Given the description of an element on the screen output the (x, y) to click on. 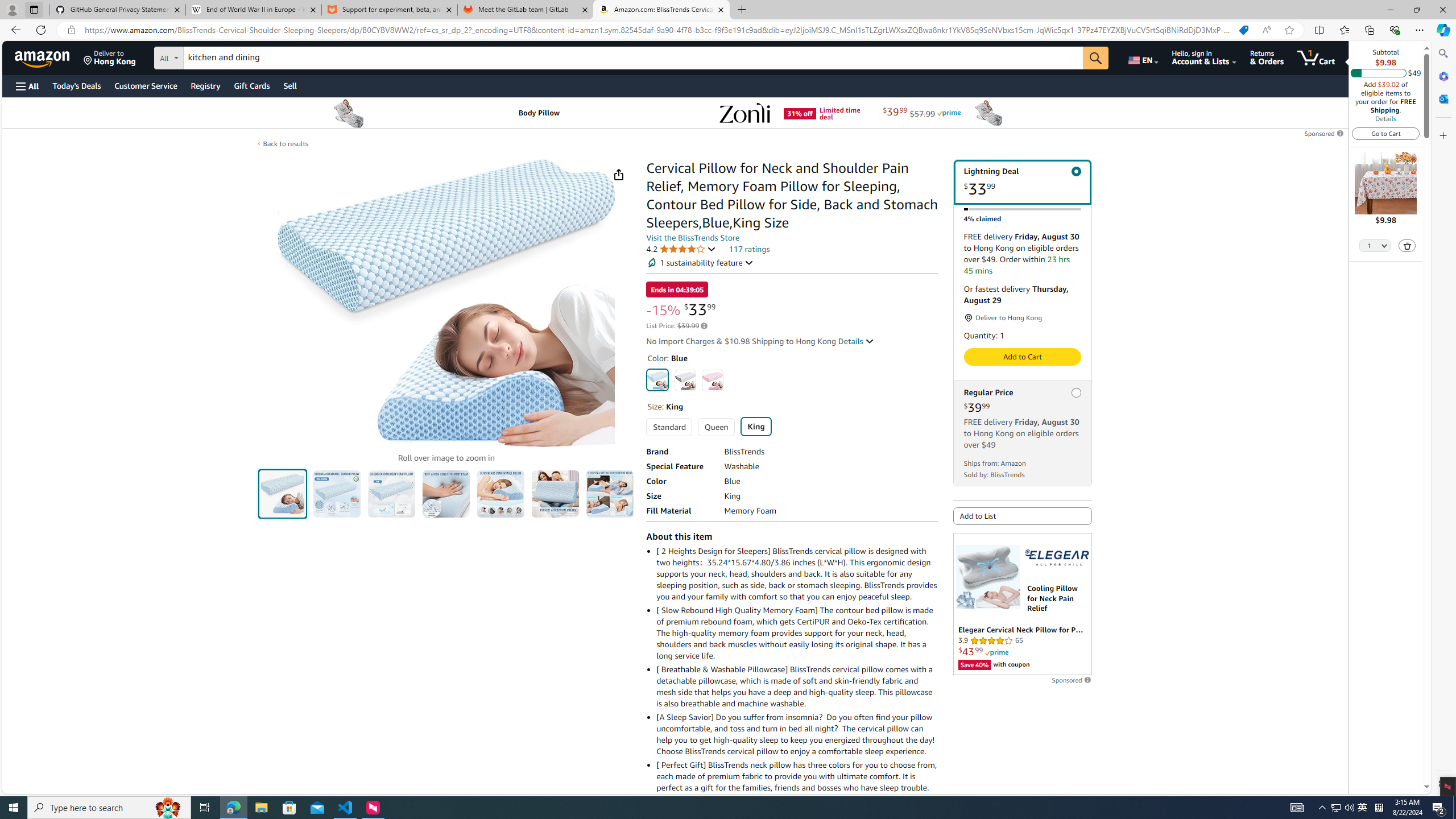
Search Amazon (633, 57)
Amazon (43, 57)
Sustainability features 1 sustainability feature  (700, 262)
Go to Cart (1385, 133)
4.2 4.2 out of 5 stars (681, 248)
Logo (1057, 557)
Sponsored ad (1022, 603)
1 item in cart (1315, 57)
GitHub General Privacy Statement - GitHub Docs (117, 9)
Add to Cart (1021, 356)
